Given the description of an element on the screen output the (x, y) to click on. 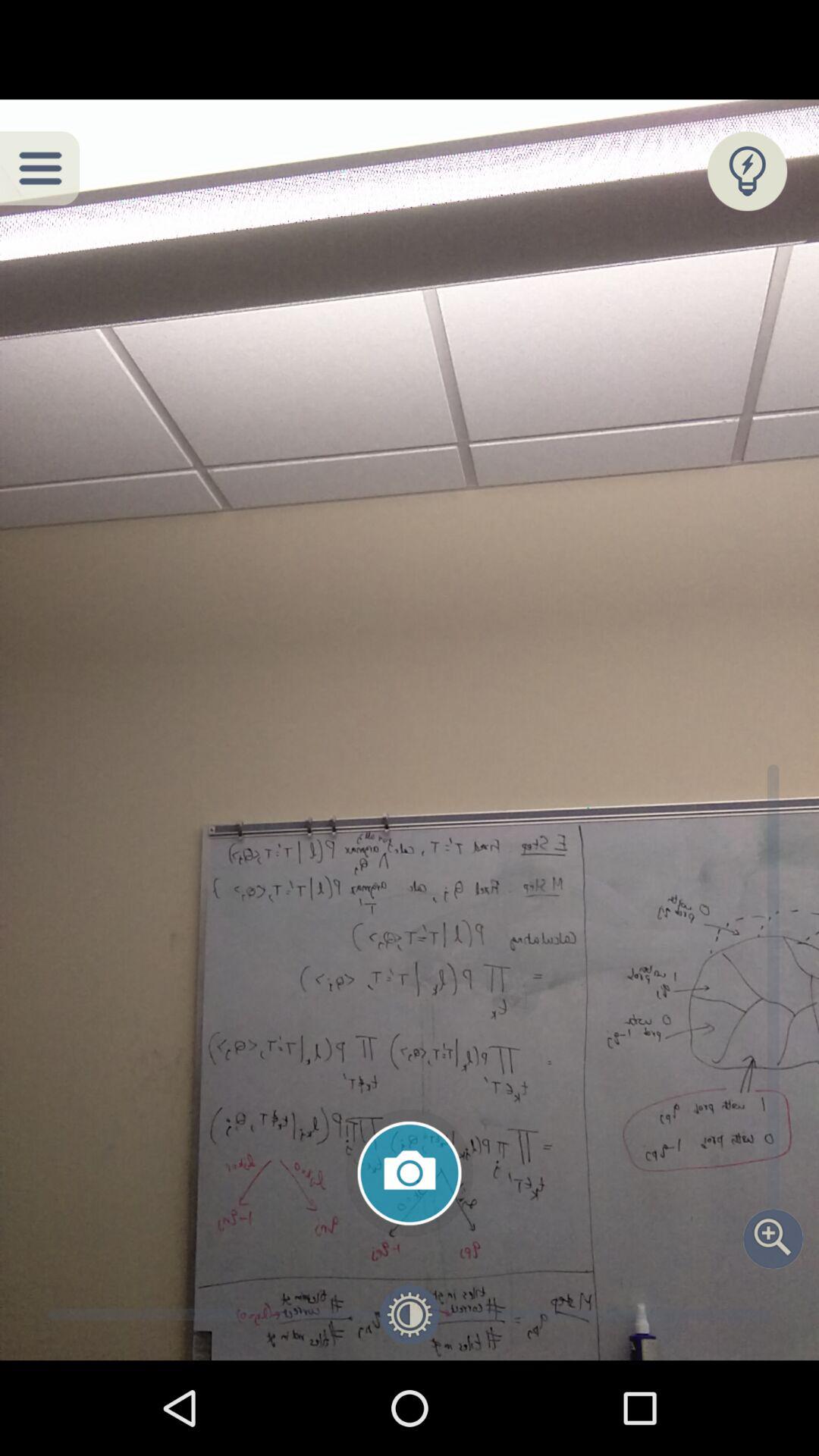
take a photo (409, 1173)
